Given the description of an element on the screen output the (x, y) to click on. 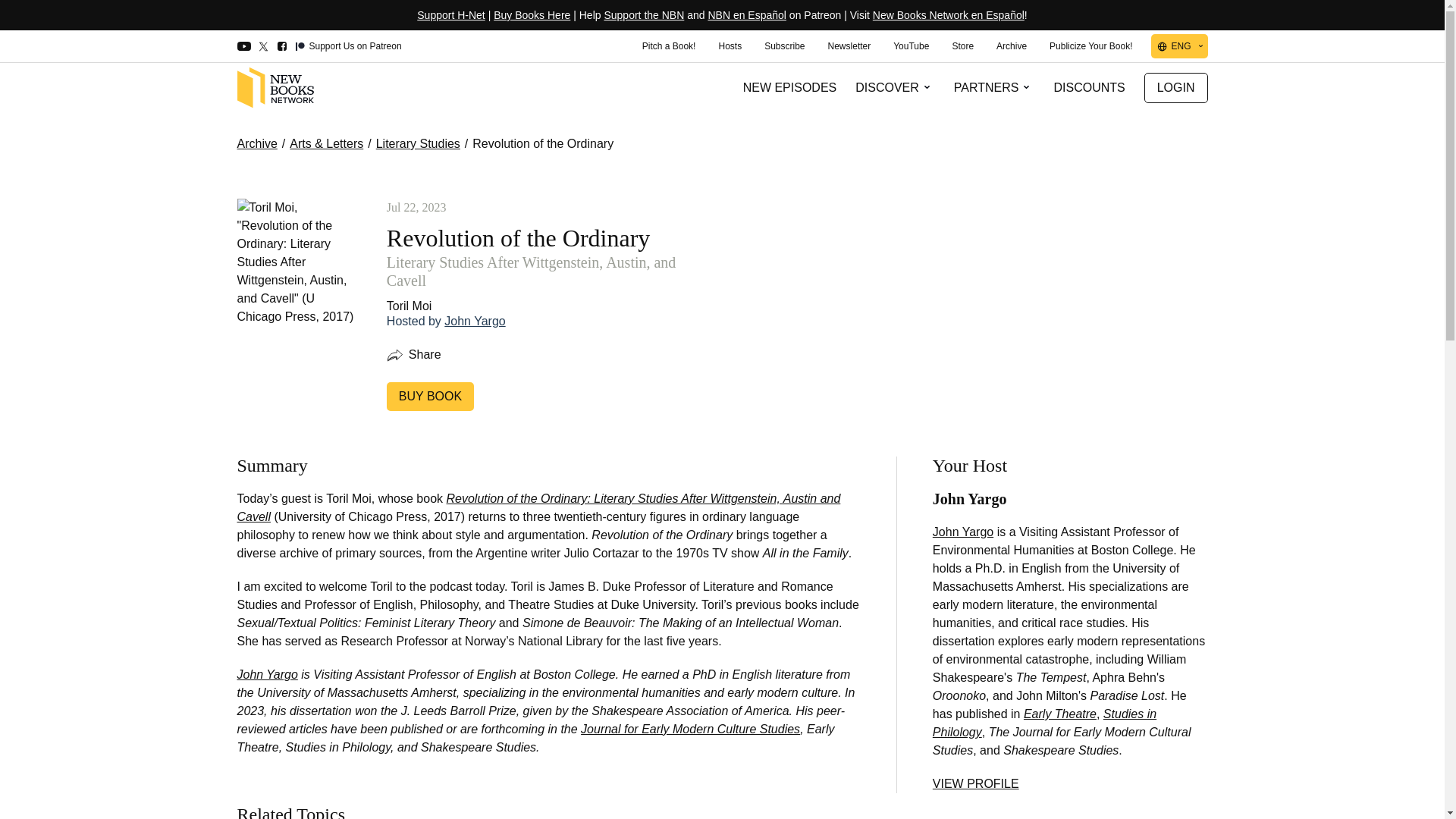
Subscribe (784, 46)
YouTube (911, 46)
Store (961, 46)
Support the NBN (644, 15)
Publicize Your Book! (1090, 46)
Archive (1011, 46)
Support Us on Patreon (348, 46)
Buy Books Here (531, 15)
Hosts (729, 46)
NEW EPISODES (789, 87)
